Given the description of an element on the screen output the (x, y) to click on. 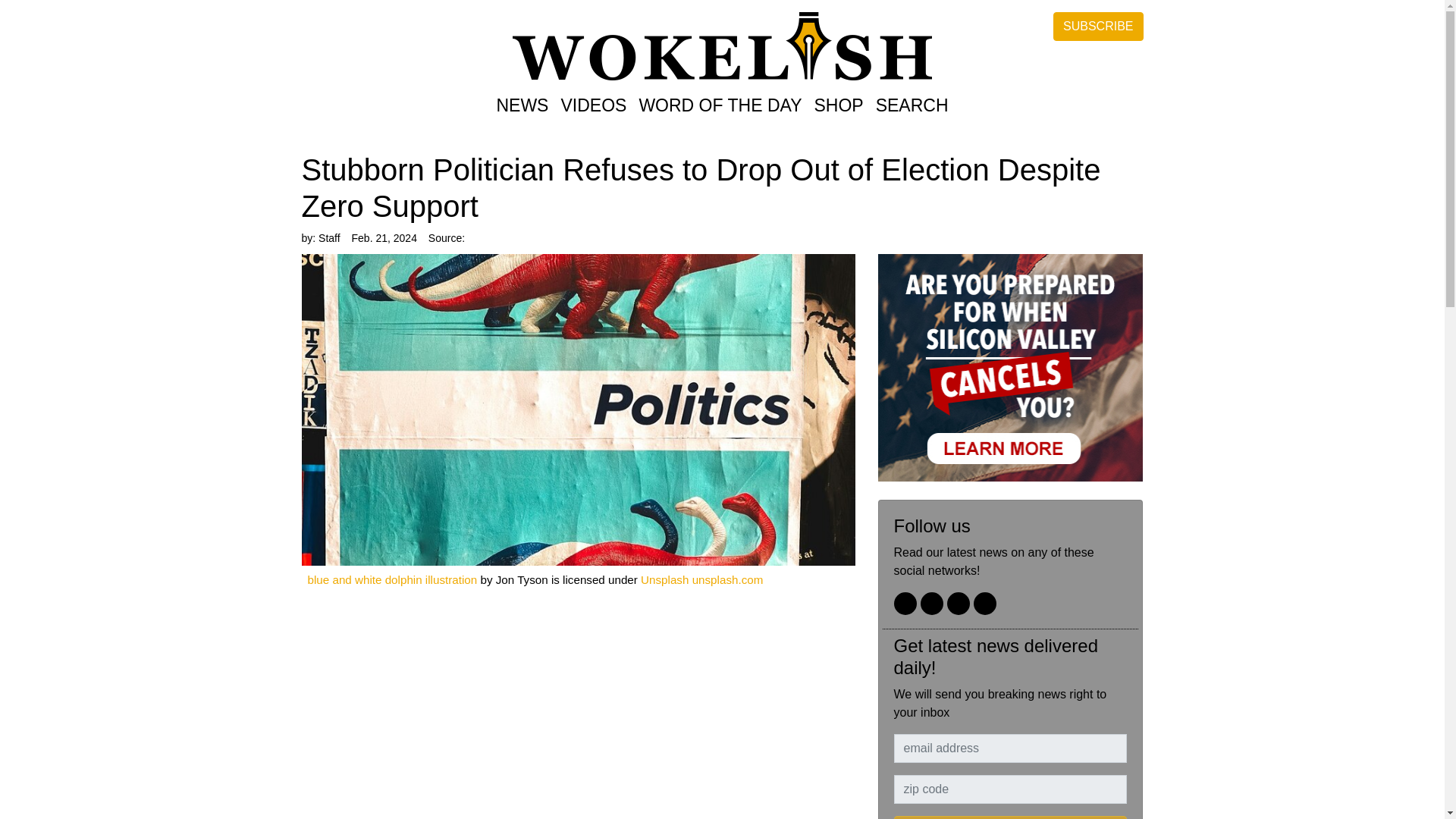
SHOP (838, 105)
NEWS (521, 105)
Truth Social (931, 603)
TPN (958, 603)
SEARCH (912, 105)
Unsplash unsplash.com (701, 579)
Twitter (904, 603)
blue and white dolphin illustration (392, 579)
WORD OF THE DAY (719, 105)
SUBSCRIBE (1009, 817)
